Given the description of an element on the screen output the (x, y) to click on. 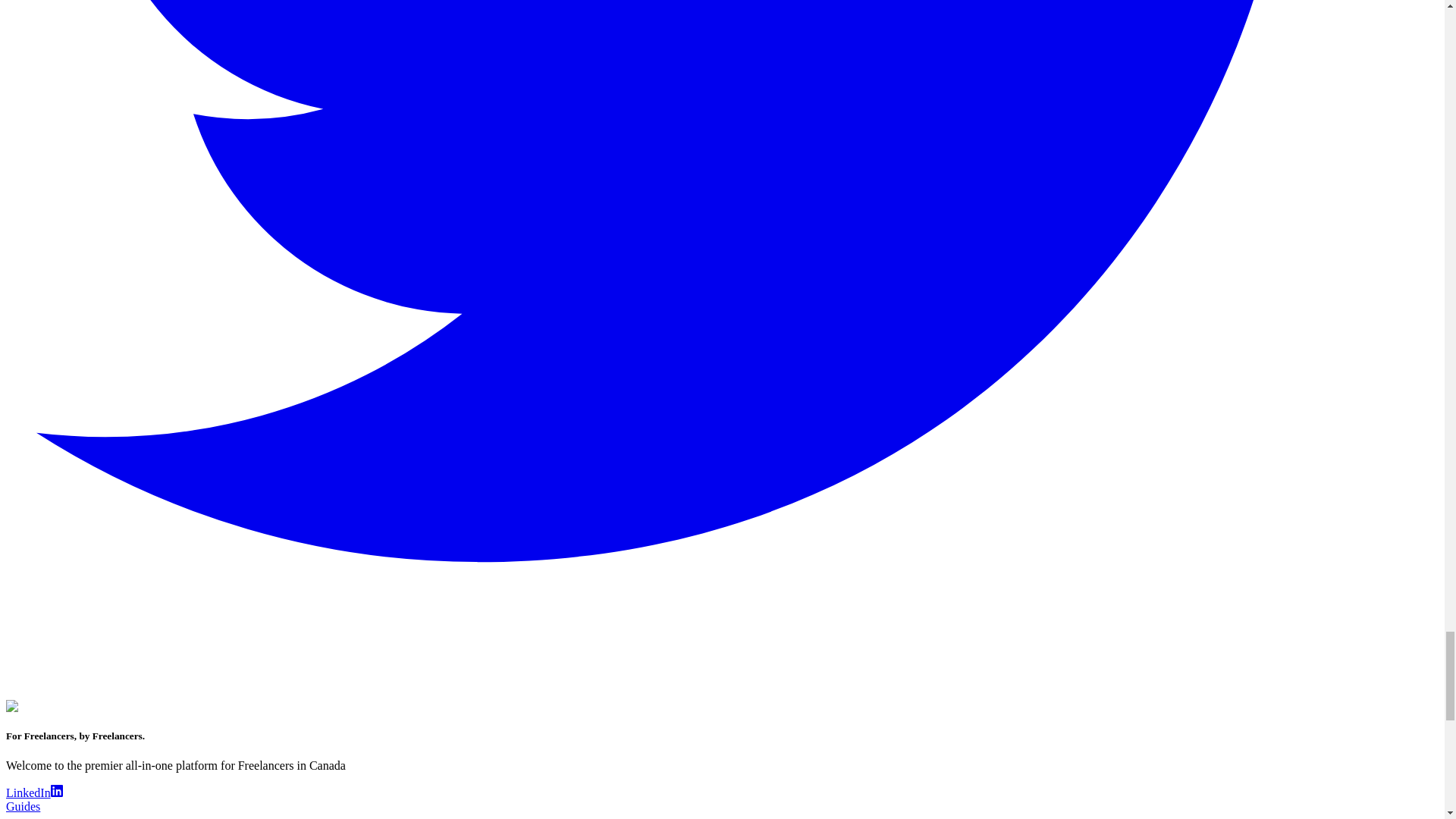
Guides (22, 806)
LinkedIn (33, 792)
